Given the description of an element on the screen output the (x, y) to click on. 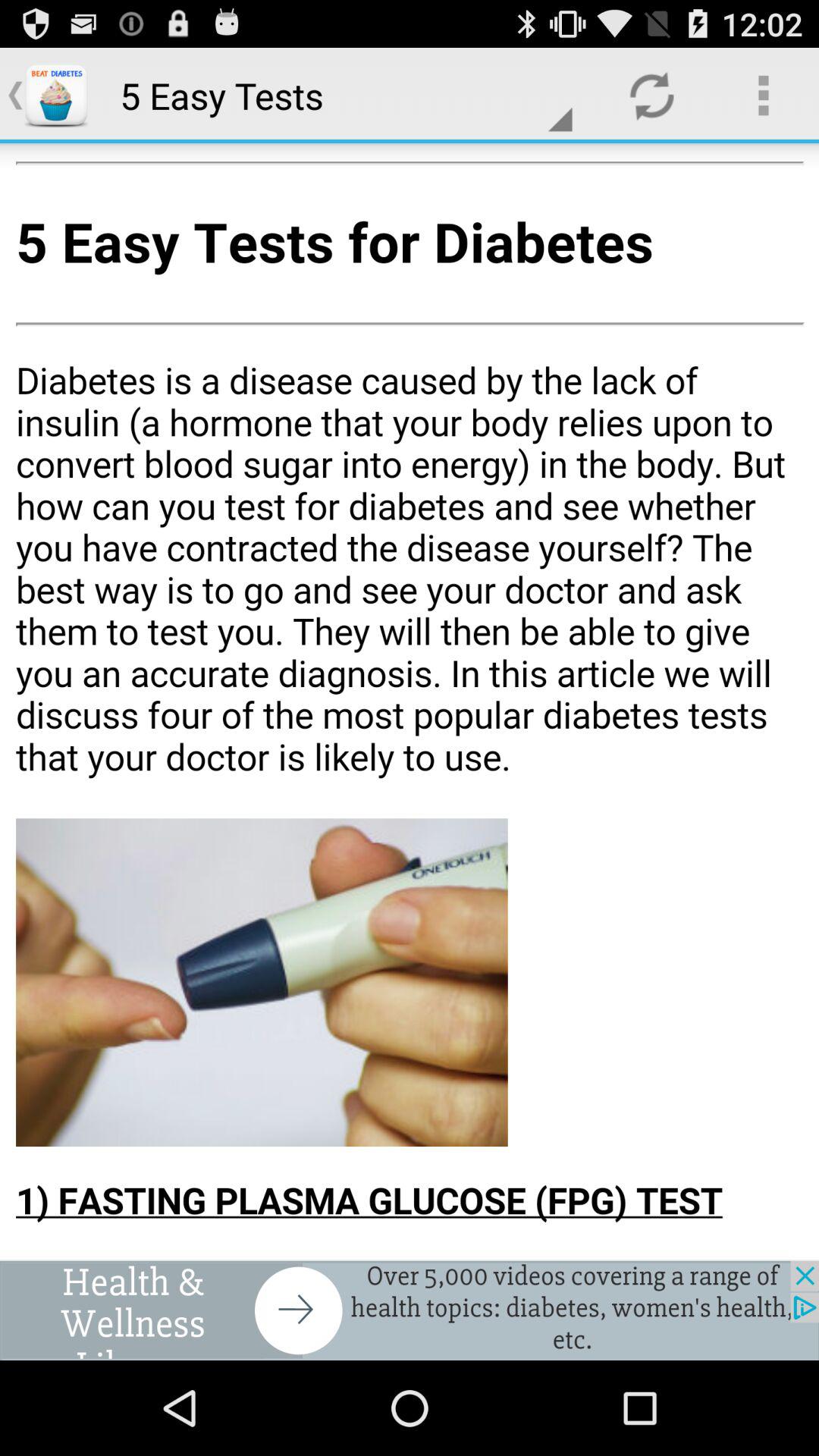
next (409, 1310)
